Given the description of an element on the screen output the (x, y) to click on. 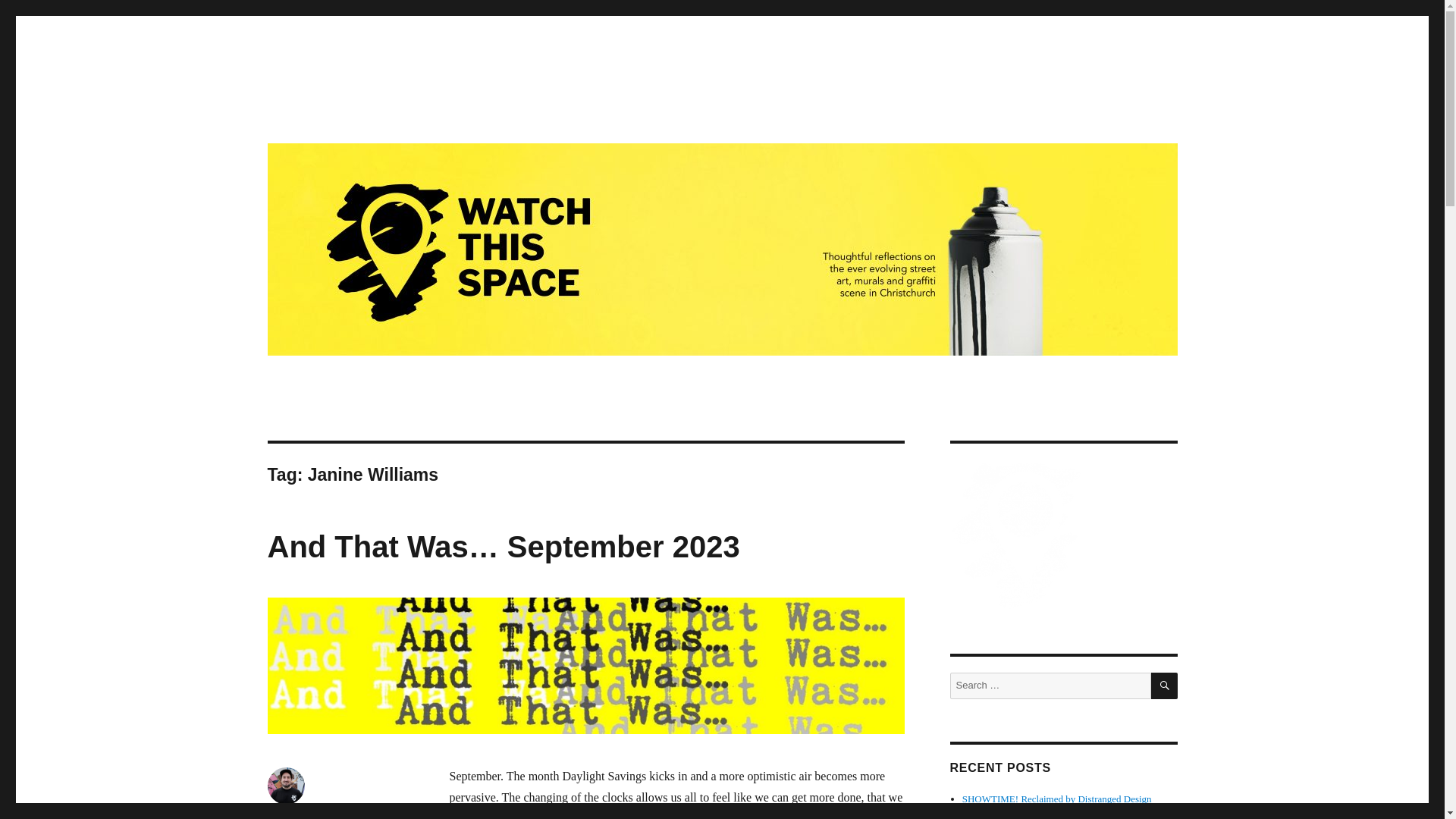
Reuben Woods (300, 815)
SEARCH (1164, 685)
SHOWTIME! Reclaimed by Distranged Design (1056, 798)
The Giant Cans Refresh (1009, 814)
Watch This Space (357, 114)
